Given the description of an element on the screen output the (x, y) to click on. 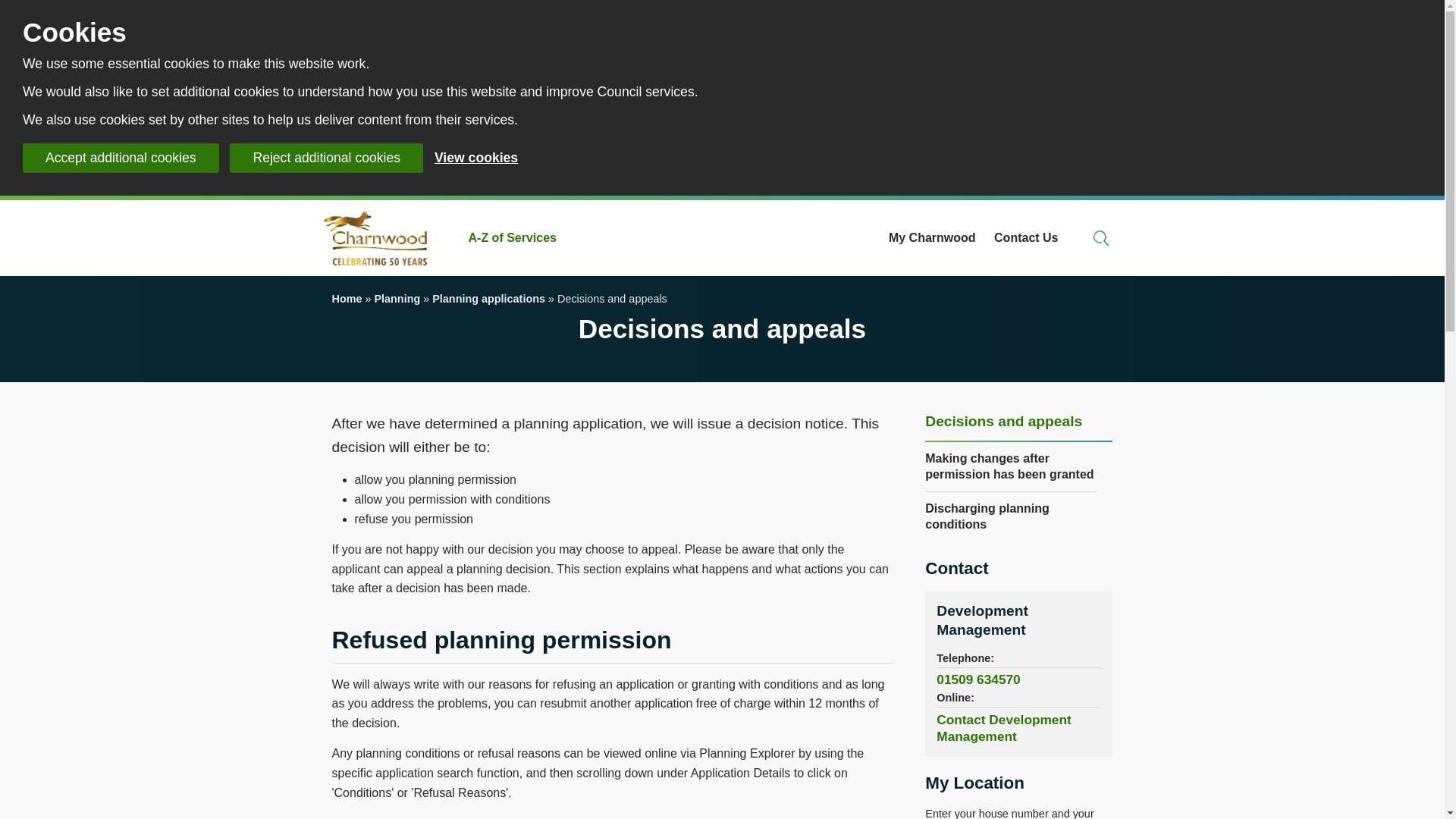
My Charnwood (931, 238)
Contact Development Management (981, 620)
Planning applications (488, 298)
Contact Us (1026, 238)
Home (346, 298)
View cookies (475, 157)
A-Z of Services (512, 238)
Accept additional cookies (121, 157)
Search (1101, 238)
Search (1101, 238)
